Given the description of an element on the screen output the (x, y) to click on. 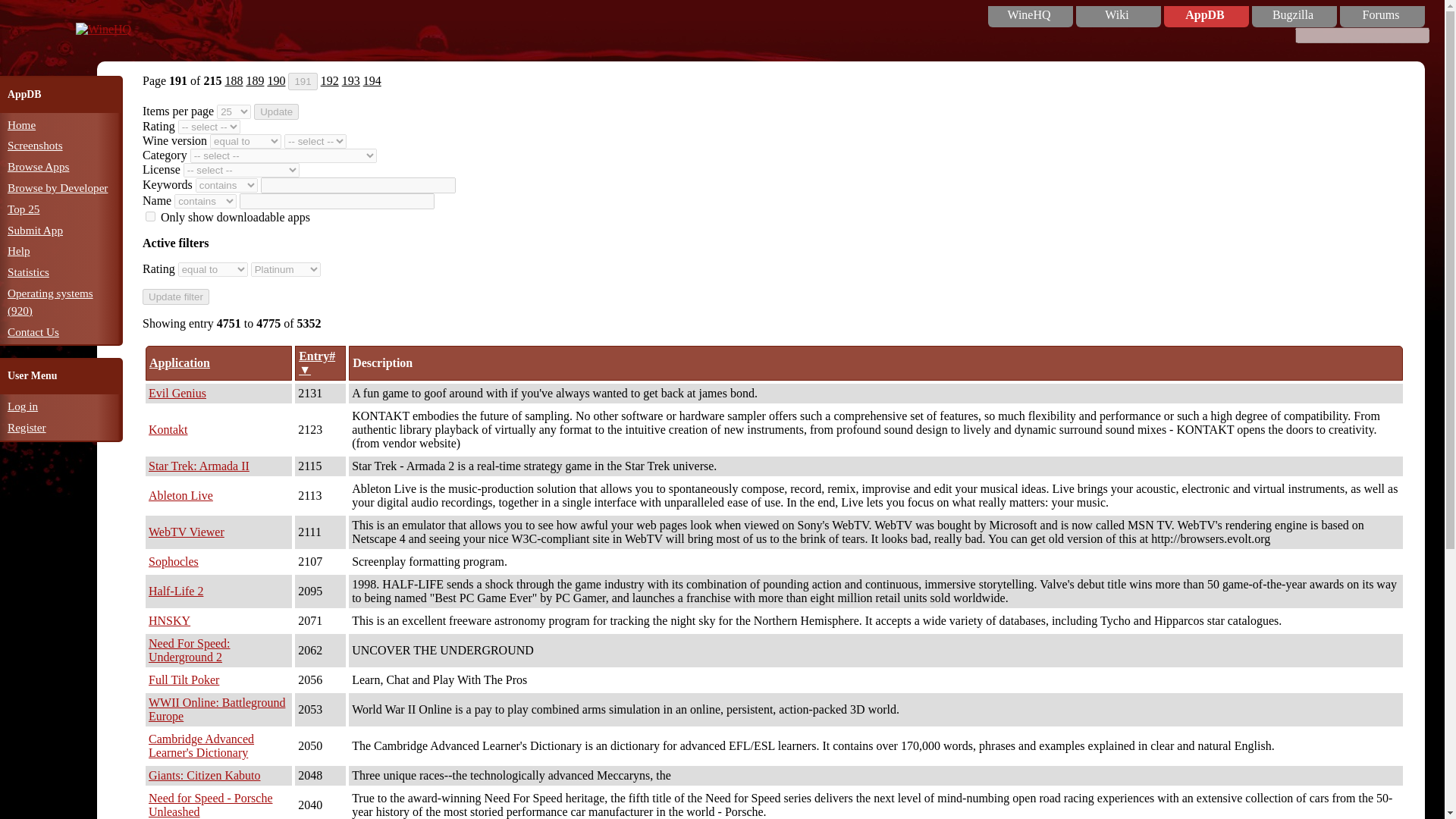
Browse Apps (37, 165)
Update (275, 111)
WineHQ (103, 29)
192 (329, 80)
Sophocles (173, 561)
true (150, 216)
Top 25 (23, 208)
193 (350, 80)
Browse by Developer (57, 187)
Register (26, 427)
Home (20, 124)
Star Trek: Armada II (198, 465)
Forums (1380, 15)
Ableton Live (180, 495)
191 (302, 81)
